Given the description of an element on the screen output the (x, y) to click on. 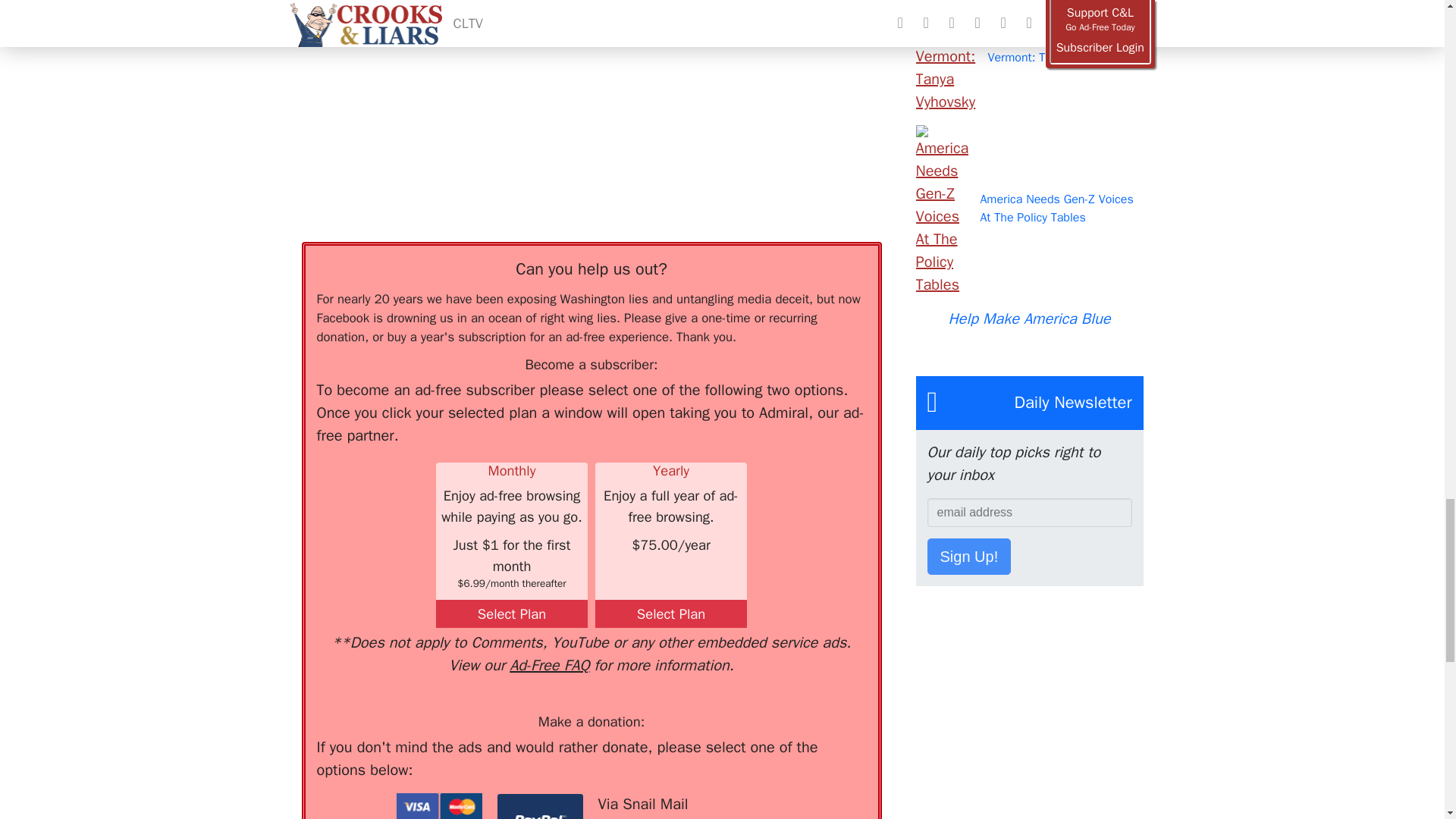
Donate via PayPal (540, 806)
Donate via Kindest (438, 806)
